Given the description of an element on the screen output the (x, y) to click on. 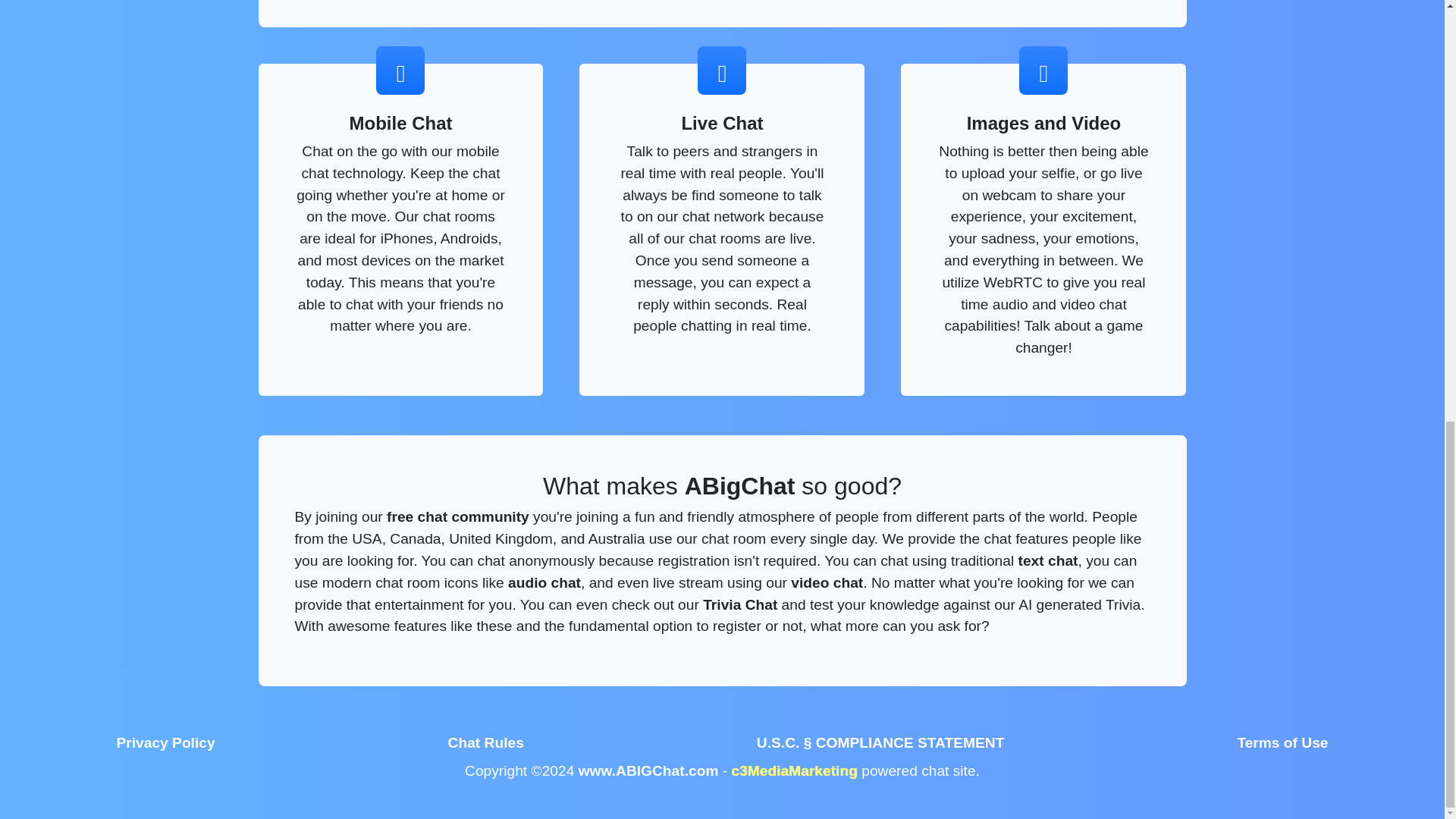
www.ABIGChat.com (648, 770)
Chat Rules (485, 743)
c3MediaMarketing (794, 770)
Privacy Policy (165, 743)
